Given the description of an element on the screen output the (x, y) to click on. 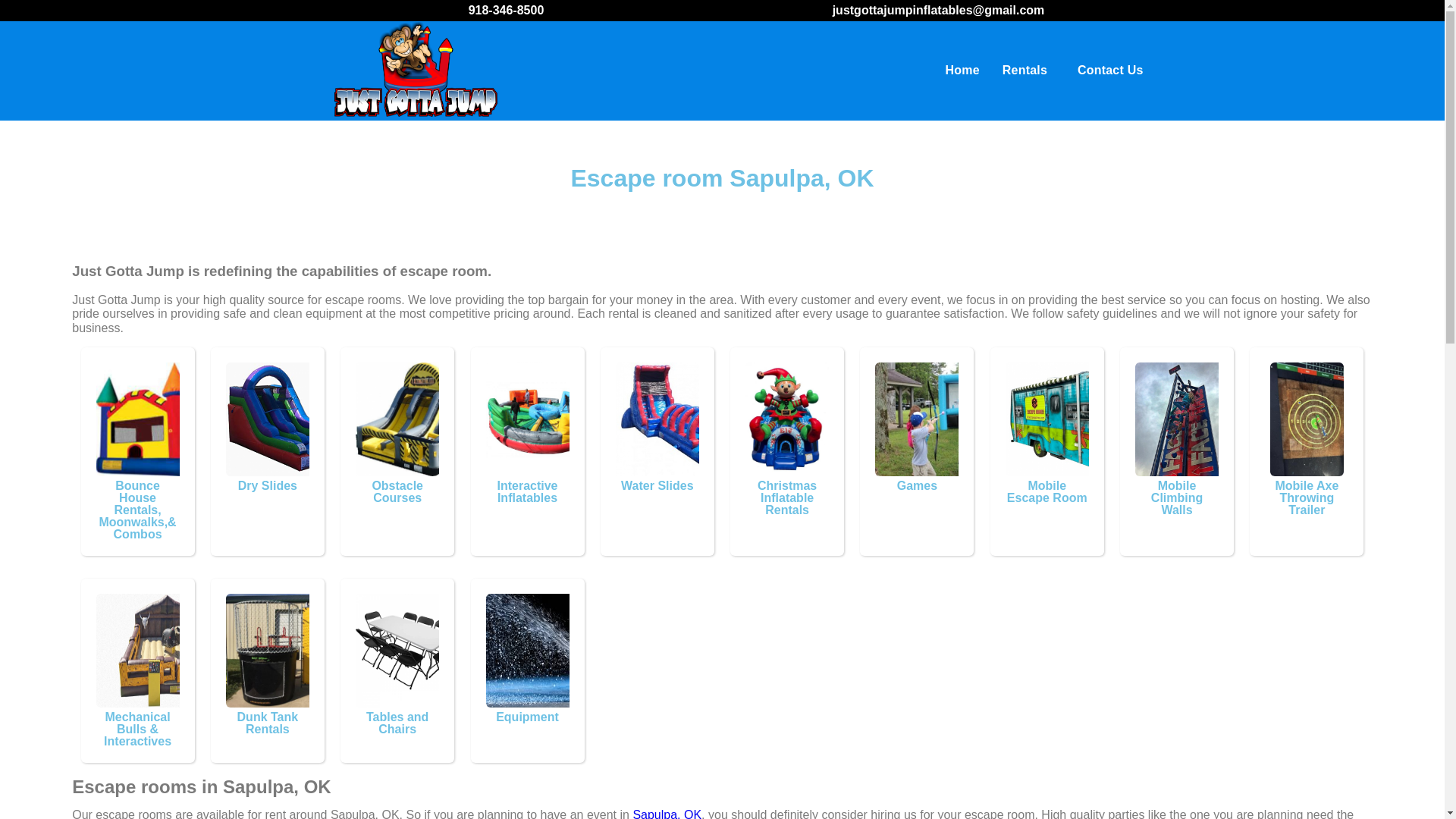
Dry Slides (300, 418)
Dunk Tank Rentals (290, 650)
Water Slides (688, 418)
918-346-8500 (506, 10)
Games (950, 418)
Mobile Escape Room (1081, 418)
Rentals (1028, 70)
Interactive Inflatables (541, 418)
Obstacle Courses (425, 418)
Home (962, 70)
Contact Us (1109, 70)
Tables and Chairs (411, 650)
Equipment (560, 650)
Dry Slides (266, 485)
